Given the description of an element on the screen output the (x, y) to click on. 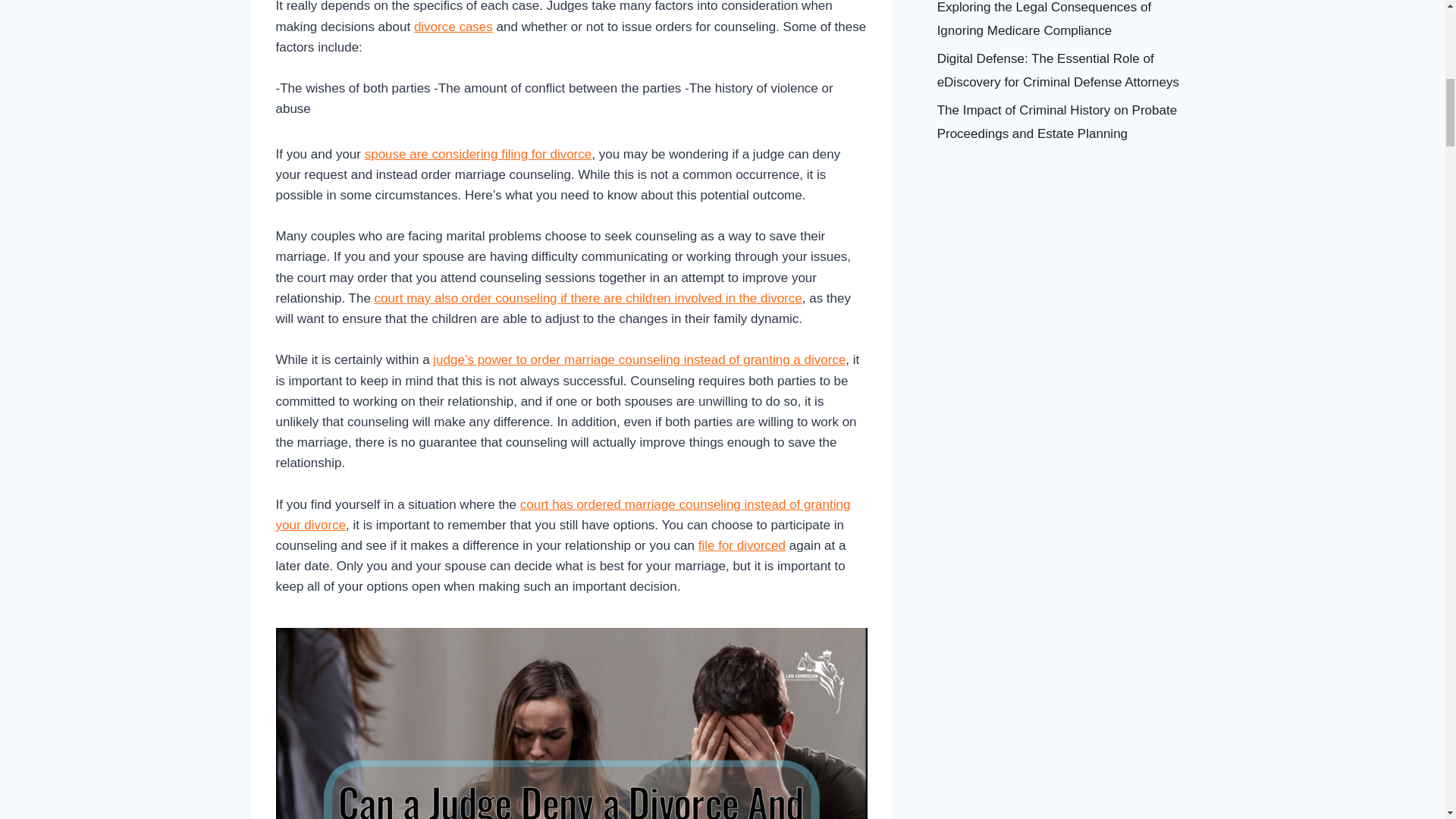
file for divorced (742, 545)
divorce cases (453, 26)
spouse are considering filing for divorce (478, 154)
